Given the description of an element on the screen output the (x, y) to click on. 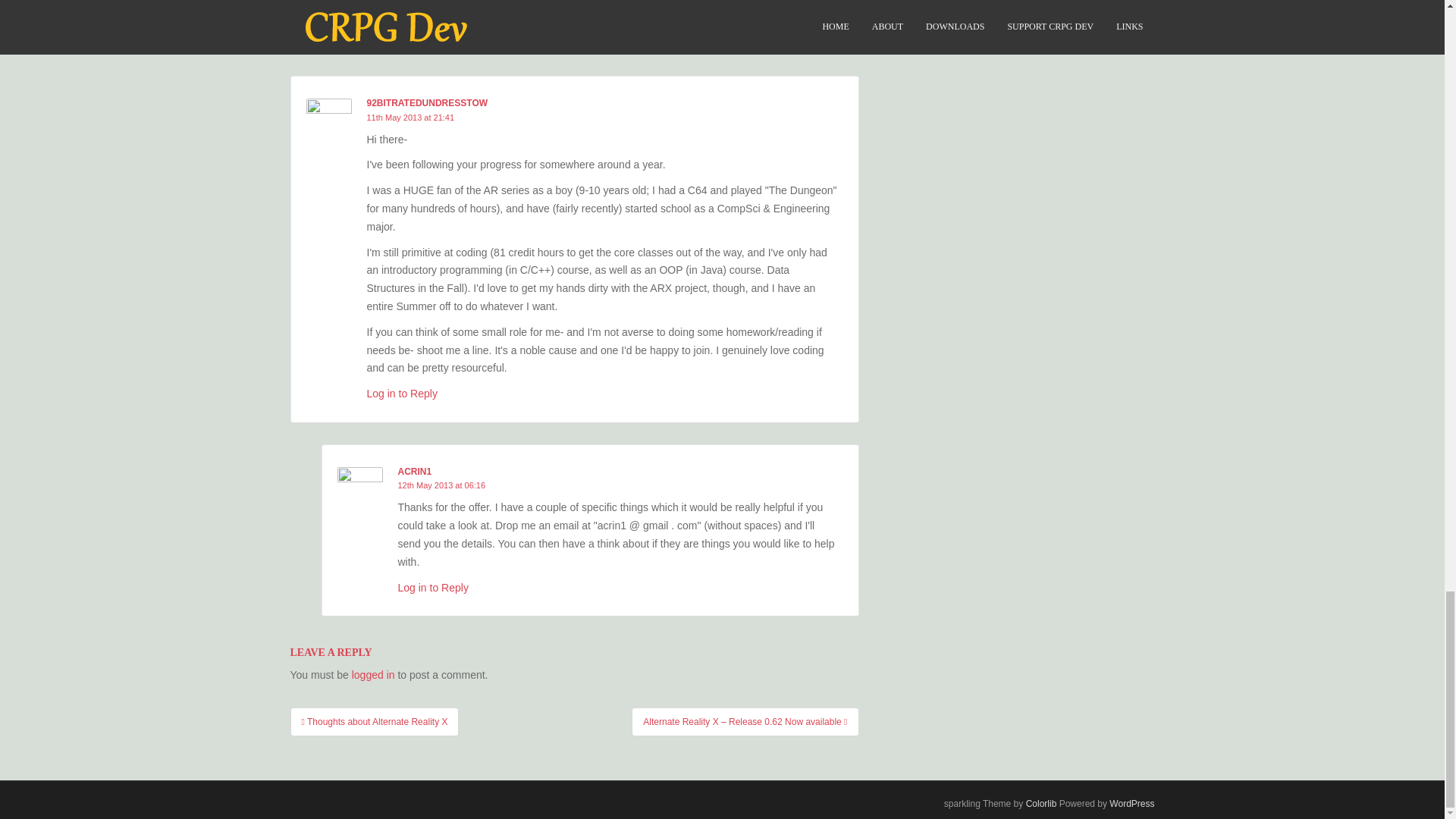
Log in to Reply (432, 587)
Colorlib (1041, 803)
Log in to Reply (402, 393)
12th May 2013 at 06:16 (440, 484)
92BITRATEDUNDRESSTOW (426, 102)
WordPress (1131, 803)
11th May 2013 at 21:41 (410, 117)
Log in to Reply (432, 24)
ACRIN1 (413, 471)
Thoughts about Alternate Reality X (373, 721)
logged in (373, 674)
